Given the description of an element on the screen output the (x, y) to click on. 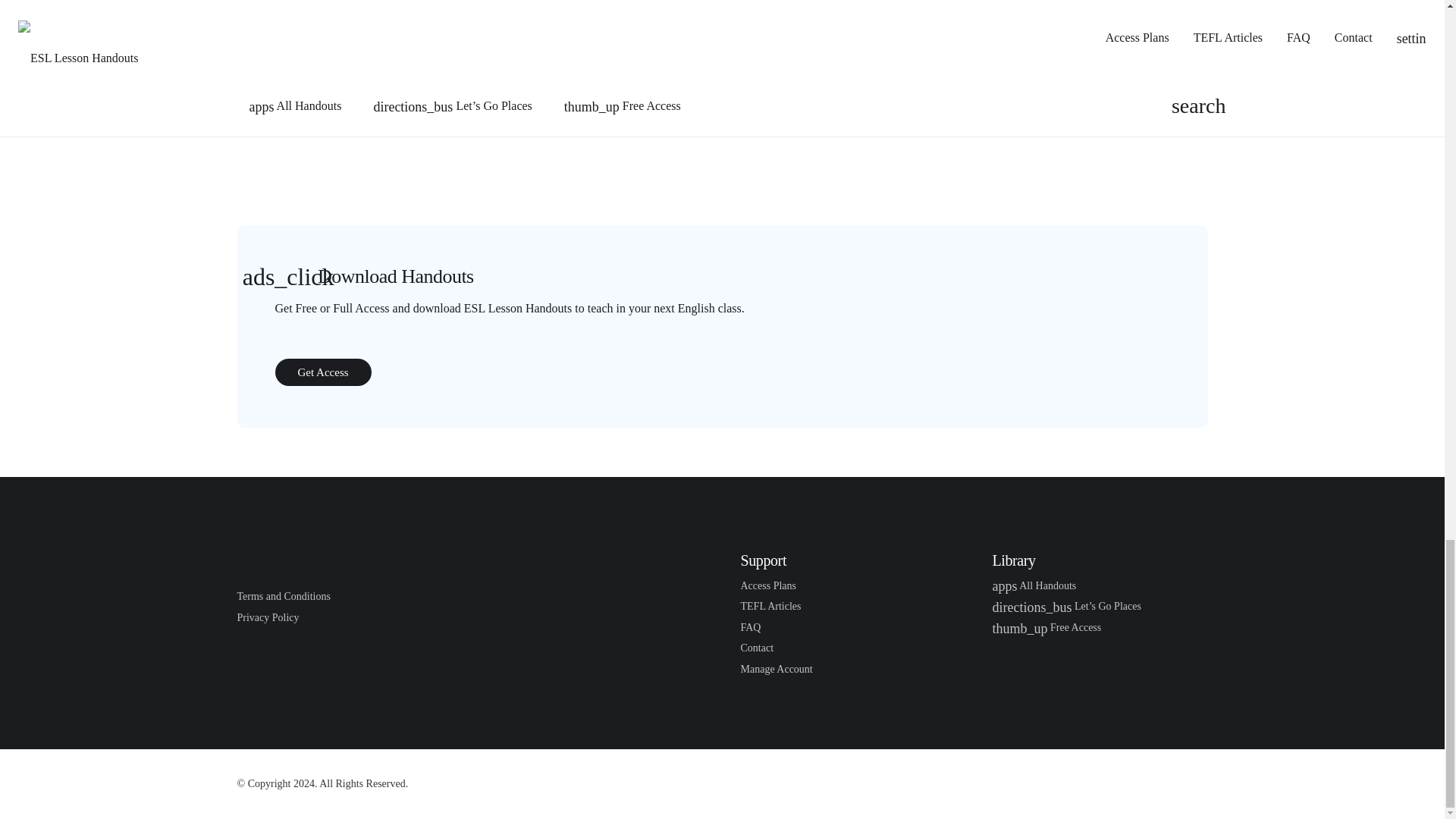
Check Access Plans (323, 371)
Check Access Plans (767, 585)
Return Home (311, 559)
